Given the description of an element on the screen output the (x, y) to click on. 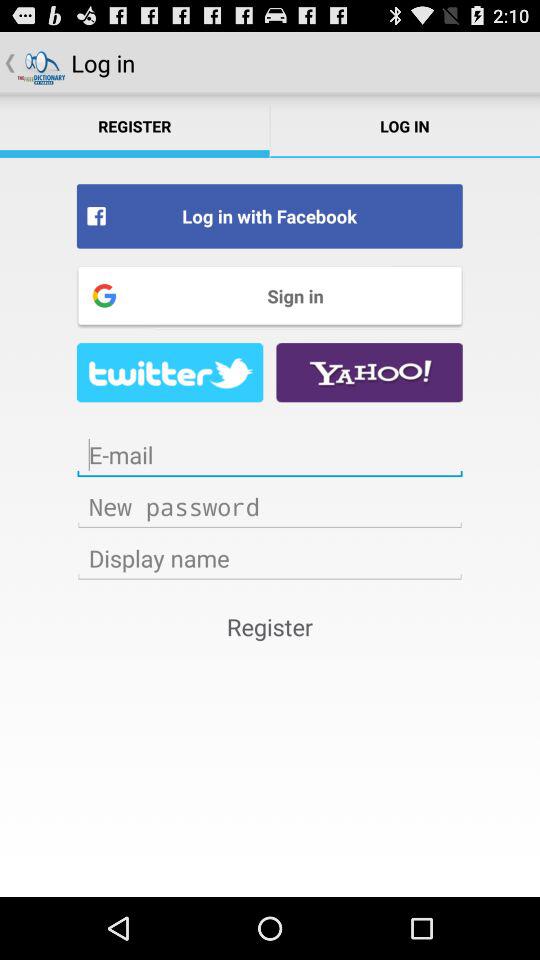
login page (269, 558)
